Given the description of an element on the screen output the (x, y) to click on. 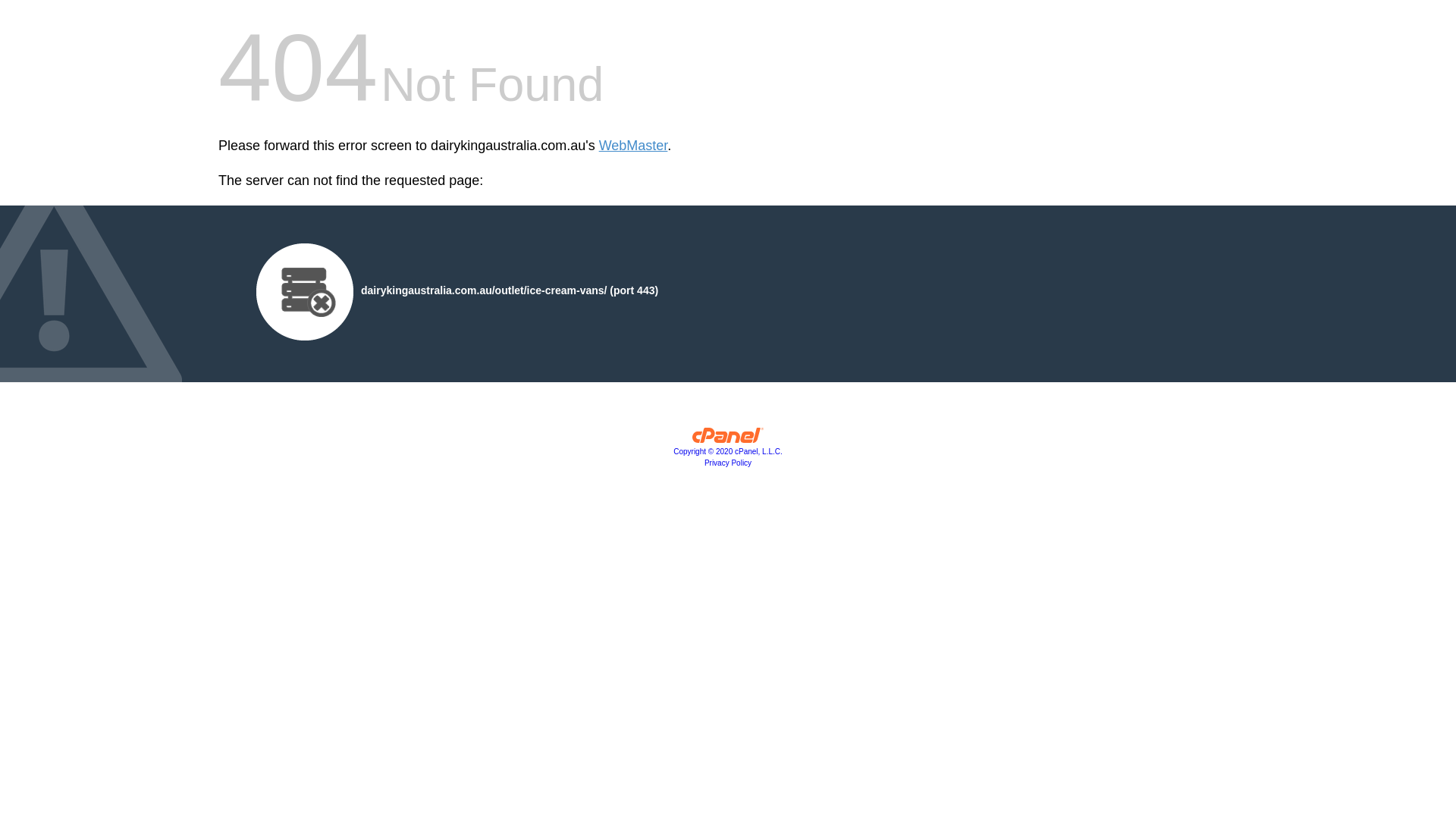
WebMaster Element type: text (633, 145)
cPanel, Inc. Element type: hover (728, 439)
Privacy Policy Element type: text (727, 462)
